Given the description of an element on the screen output the (x, y) to click on. 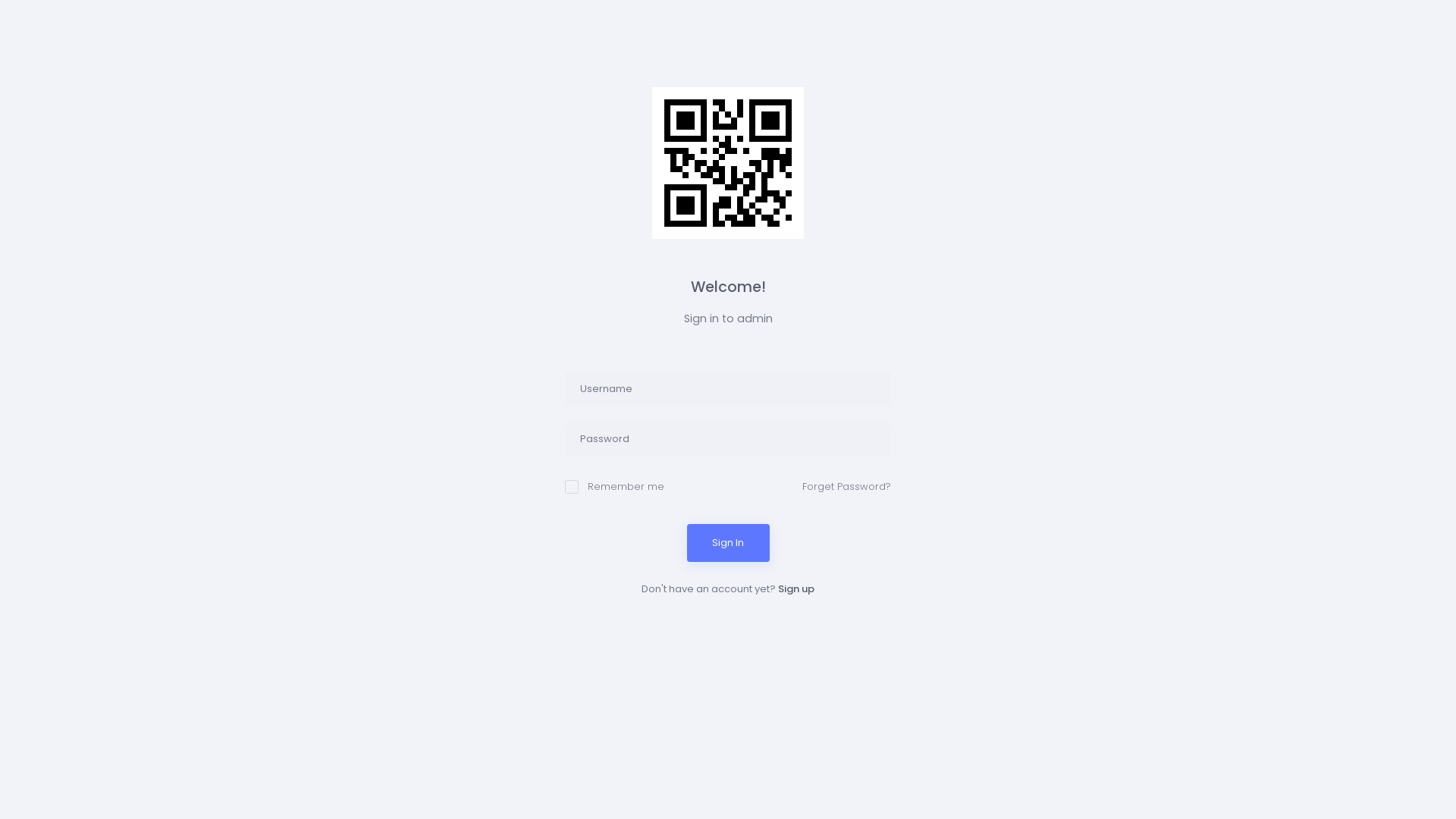
Sign up Element type: text (796, 588)
Forget Password? Element type: text (846, 486)
Sign In Element type: text (728, 542)
